Given the description of an element on the screen output the (x, y) to click on. 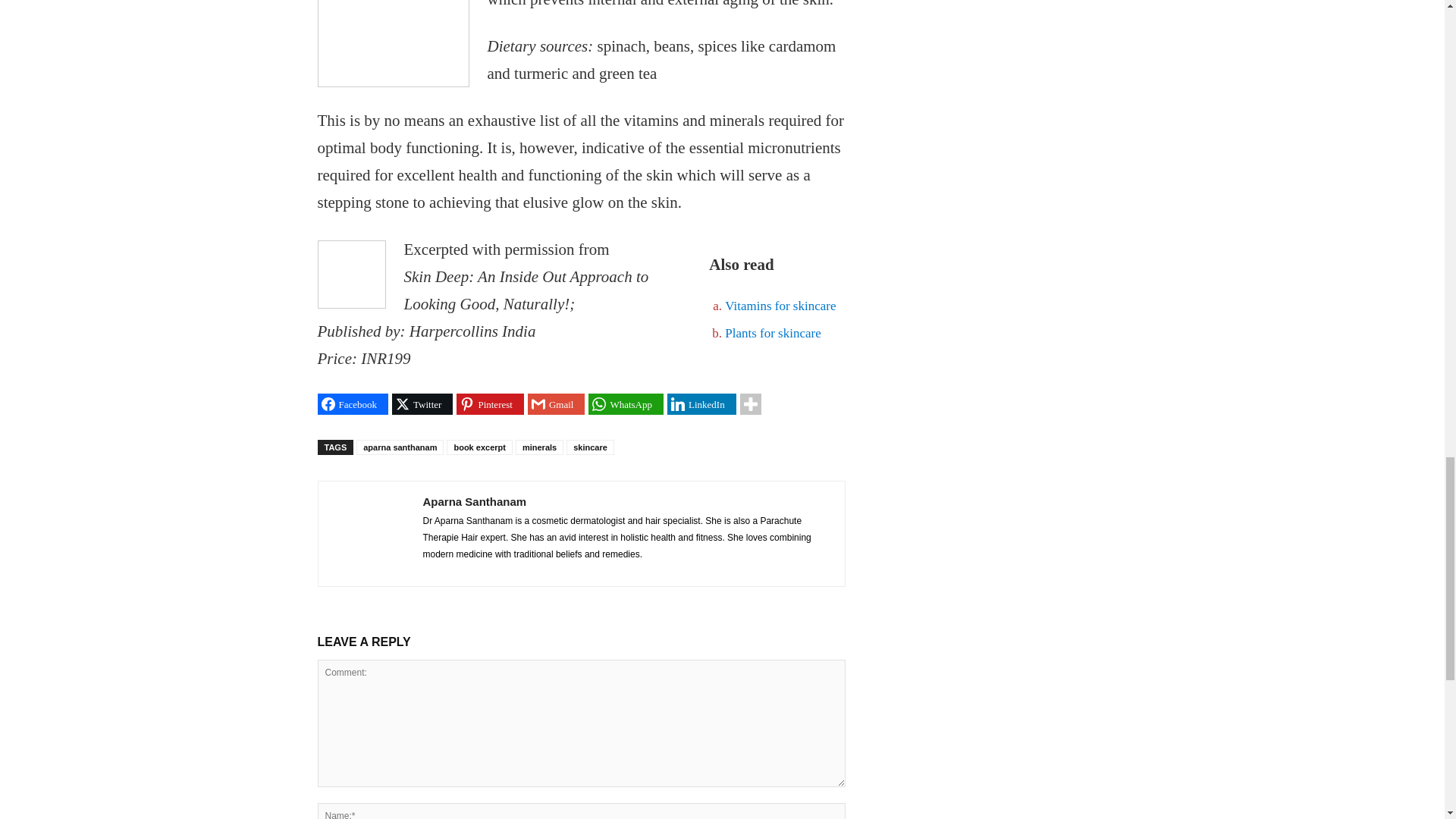
Share on Facebook (352, 403)
Share on Twitter (421, 403)
Share on Pinterest (490, 403)
